Given the description of an element on the screen output the (x, y) to click on. 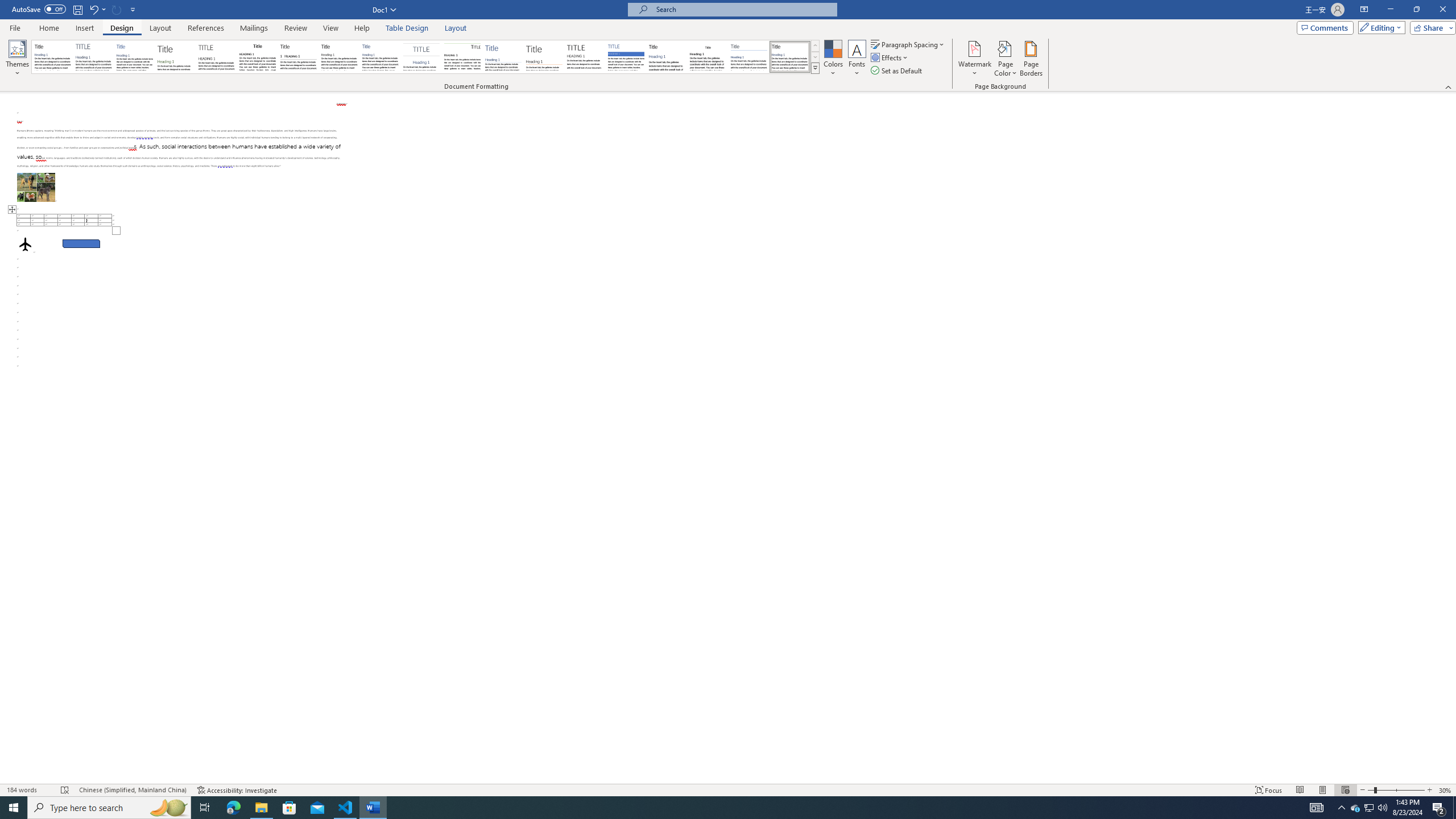
Lines (Distinctive) (462, 56)
Can't Repeat (117, 9)
Style Set (814, 67)
Page Borders... (1031, 58)
Shaded (625, 56)
